Given the description of an element on the screen output the (x, y) to click on. 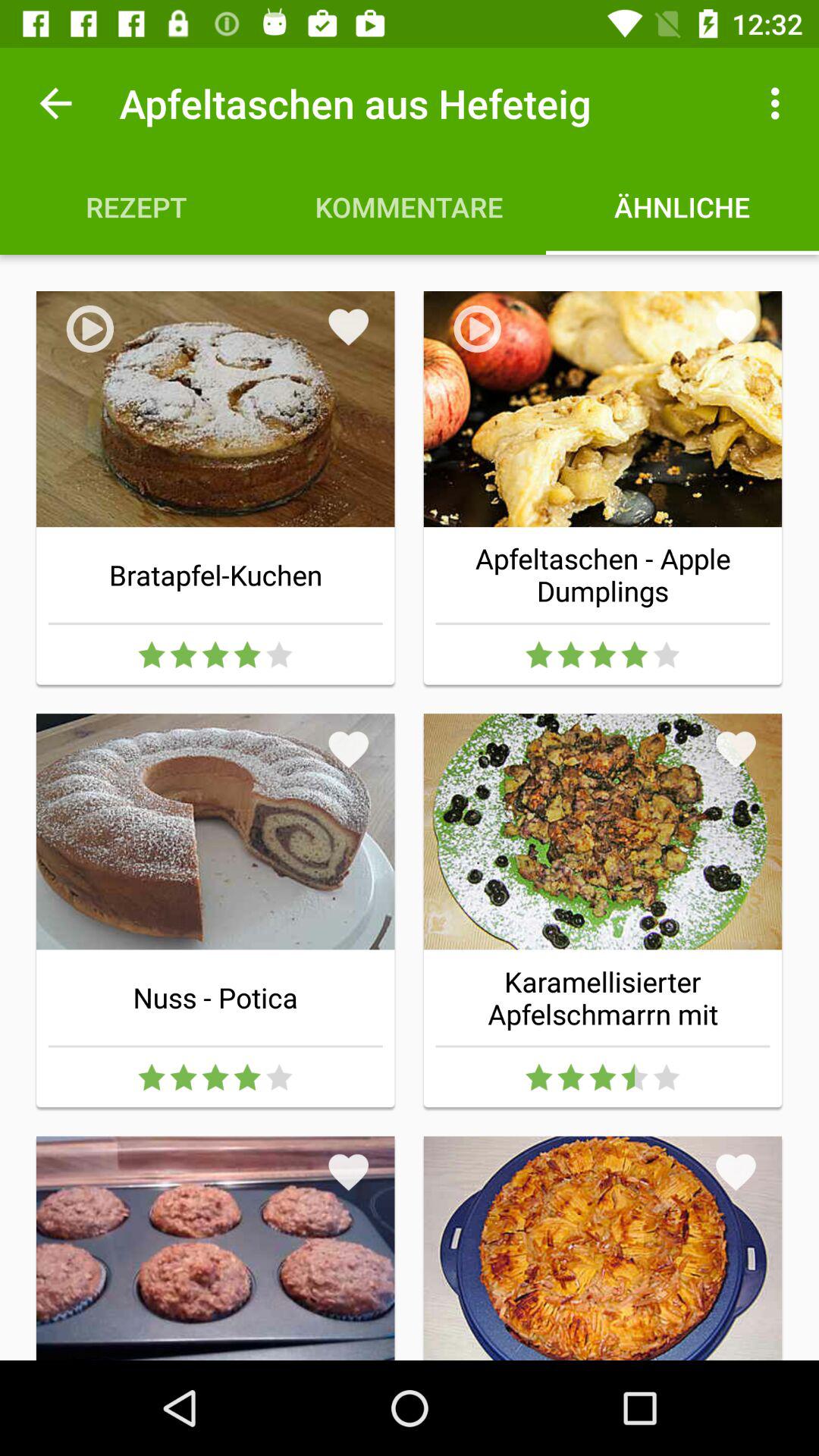
launch icon to the left of the apfeltaschen aus hefeteig icon (55, 103)
